Given the description of an element on the screen output the (x, y) to click on. 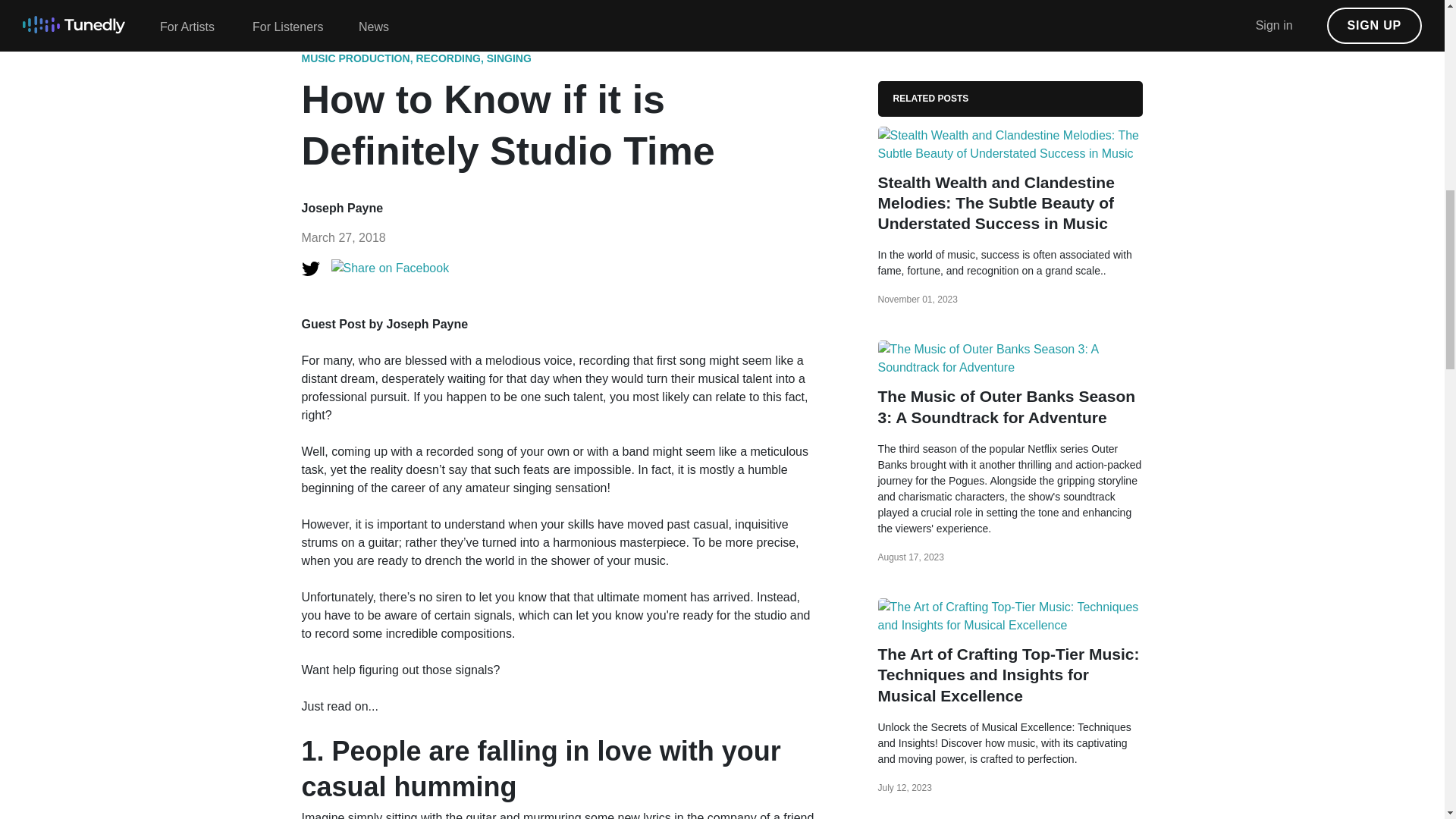
SINGING (508, 58)
RECORDING (447, 58)
MUSIC PRODUCTION (355, 58)
